Given the description of an element on the screen output the (x, y) to click on. 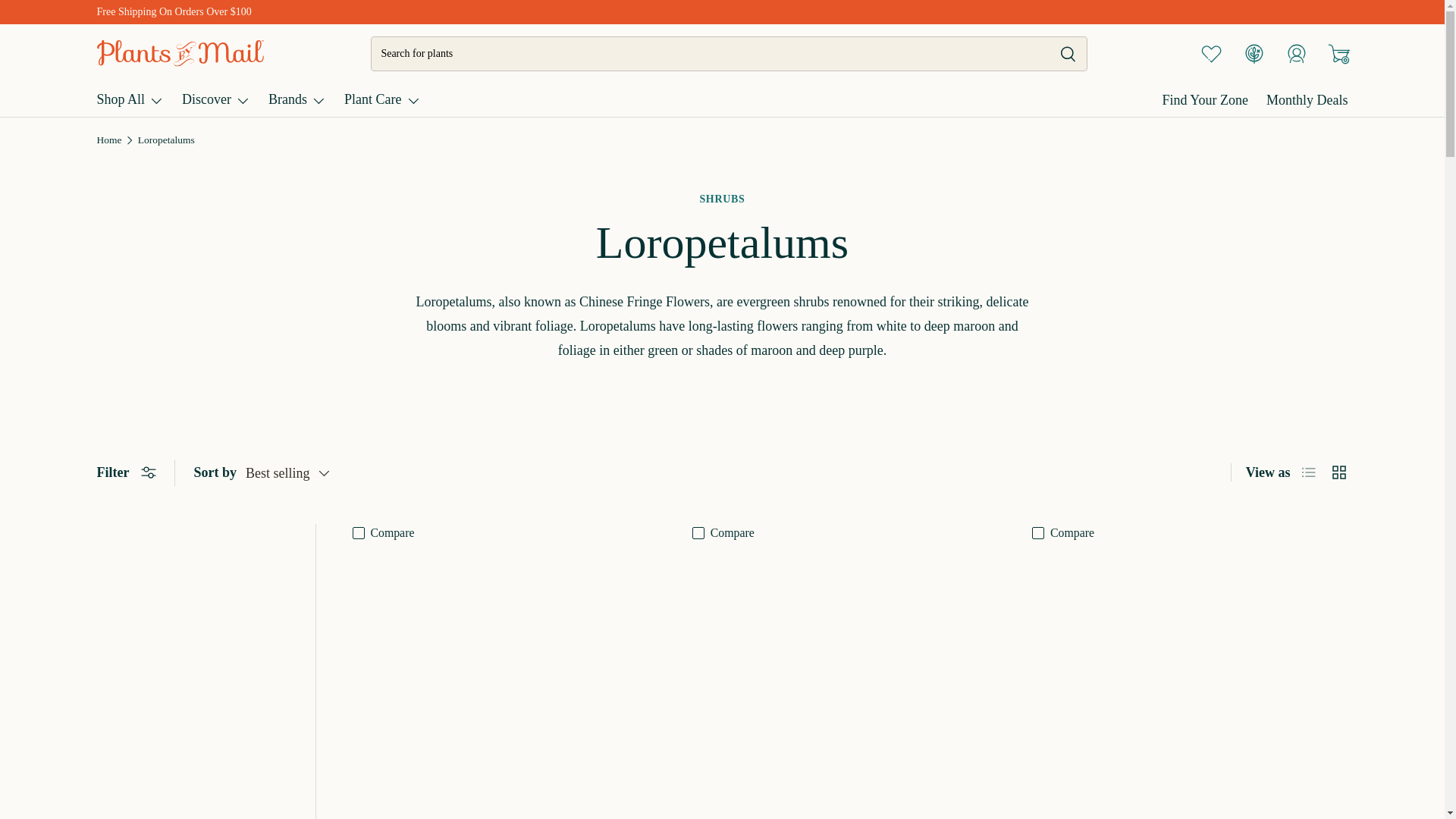
SKIP TO CONTENT (84, 28)
Shop All (130, 99)
Search (1059, 54)
Cart (1338, 52)
Log in (1296, 52)
